Given the description of an element on the screen output the (x, y) to click on. 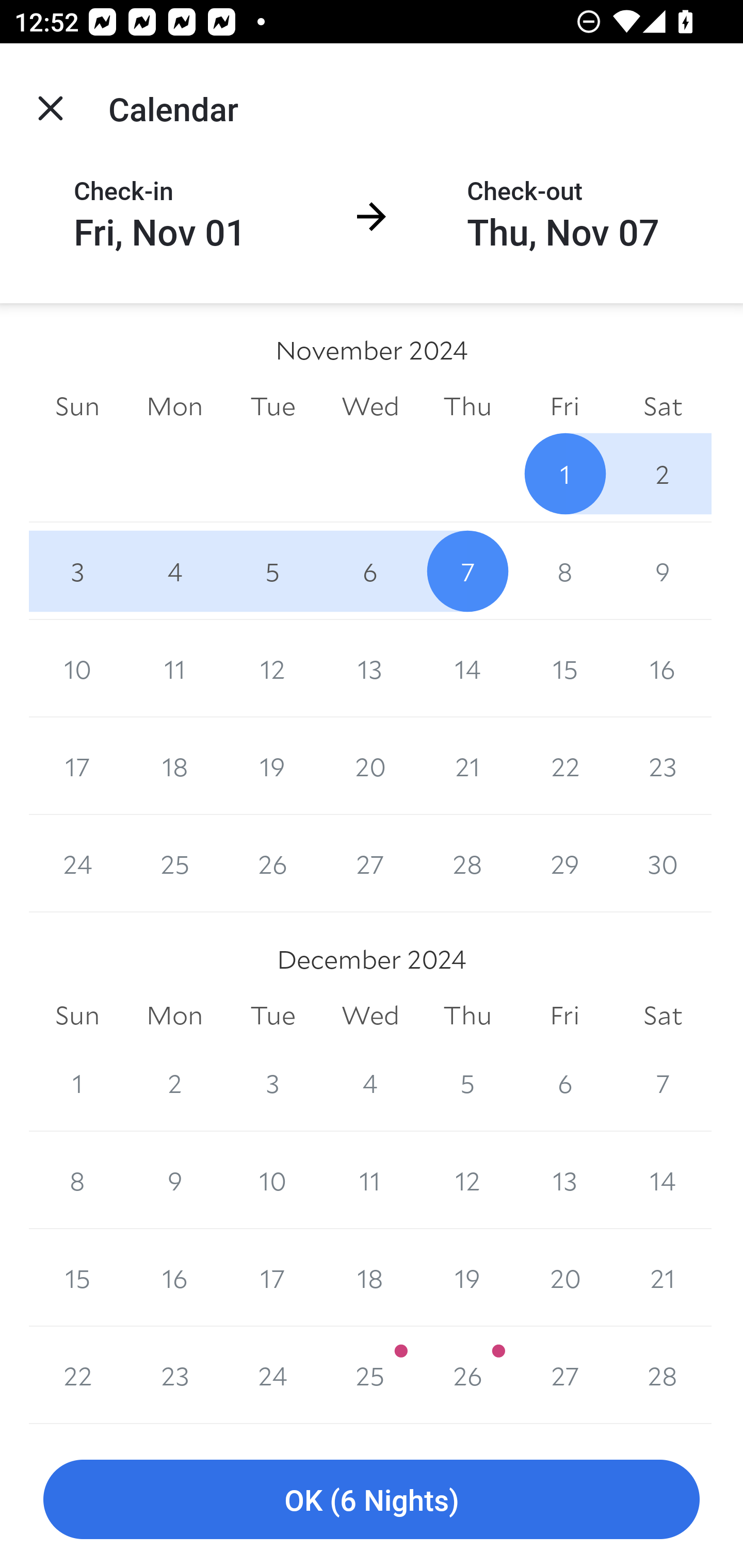
Sun (77, 405)
Mon (174, 405)
Tue (272, 405)
Wed (370, 405)
Thu (467, 405)
Fri (564, 405)
Sat (662, 405)
1 1 November 2024 (564, 473)
2 2 November 2024 (662, 473)
3 3 November 2024 (77, 570)
4 4 November 2024 (174, 570)
5 5 November 2024 (272, 570)
6 6 November 2024 (370, 570)
7 7 November 2024 (467, 570)
8 8 November 2024 (564, 570)
9 9 November 2024 (662, 570)
10 10 November 2024 (77, 668)
11 11 November 2024 (174, 668)
12 12 November 2024 (272, 668)
13 13 November 2024 (370, 668)
14 14 November 2024 (467, 668)
15 15 November 2024 (564, 668)
16 16 November 2024 (662, 668)
17 17 November 2024 (77, 766)
18 18 November 2024 (174, 766)
19 19 November 2024 (272, 766)
20 20 November 2024 (370, 766)
21 21 November 2024 (467, 766)
22 22 November 2024 (564, 766)
23 23 November 2024 (662, 766)
24 24 November 2024 (77, 863)
25 25 November 2024 (174, 863)
26 26 November 2024 (272, 863)
27 27 November 2024 (370, 863)
28 28 November 2024 (467, 863)
29 29 November 2024 (564, 863)
30 30 November 2024 (662, 863)
Sun (77, 1015)
Mon (174, 1015)
Tue (272, 1015)
Wed (370, 1015)
Thu (467, 1015)
Fri (564, 1015)
Sat (662, 1015)
1 1 December 2024 (77, 1083)
2 2 December 2024 (174, 1083)
3 3 December 2024 (272, 1083)
4 4 December 2024 (370, 1083)
5 5 December 2024 (467, 1083)
6 6 December 2024 (564, 1083)
7 7 December 2024 (662, 1083)
8 8 December 2024 (77, 1180)
9 9 December 2024 (174, 1180)
10 10 December 2024 (272, 1180)
11 11 December 2024 (370, 1180)
12 12 December 2024 (467, 1180)
13 13 December 2024 (564, 1180)
14 14 December 2024 (662, 1180)
15 15 December 2024 (77, 1277)
16 16 December 2024 (174, 1277)
17 17 December 2024 (272, 1277)
18 18 December 2024 (370, 1277)
19 19 December 2024 (467, 1277)
20 20 December 2024 (564, 1277)
21 21 December 2024 (662, 1277)
22 22 December 2024 (77, 1374)
23 23 December 2024 (174, 1374)
24 24 December 2024 (272, 1374)
25 25 December 2024 (370, 1374)
26 26 December 2024 (467, 1374)
27 27 December 2024 (564, 1374)
28 28 December 2024 (662, 1374)
OK (6 Nights) (371, 1499)
